Given the description of an element on the screen output the (x, y) to click on. 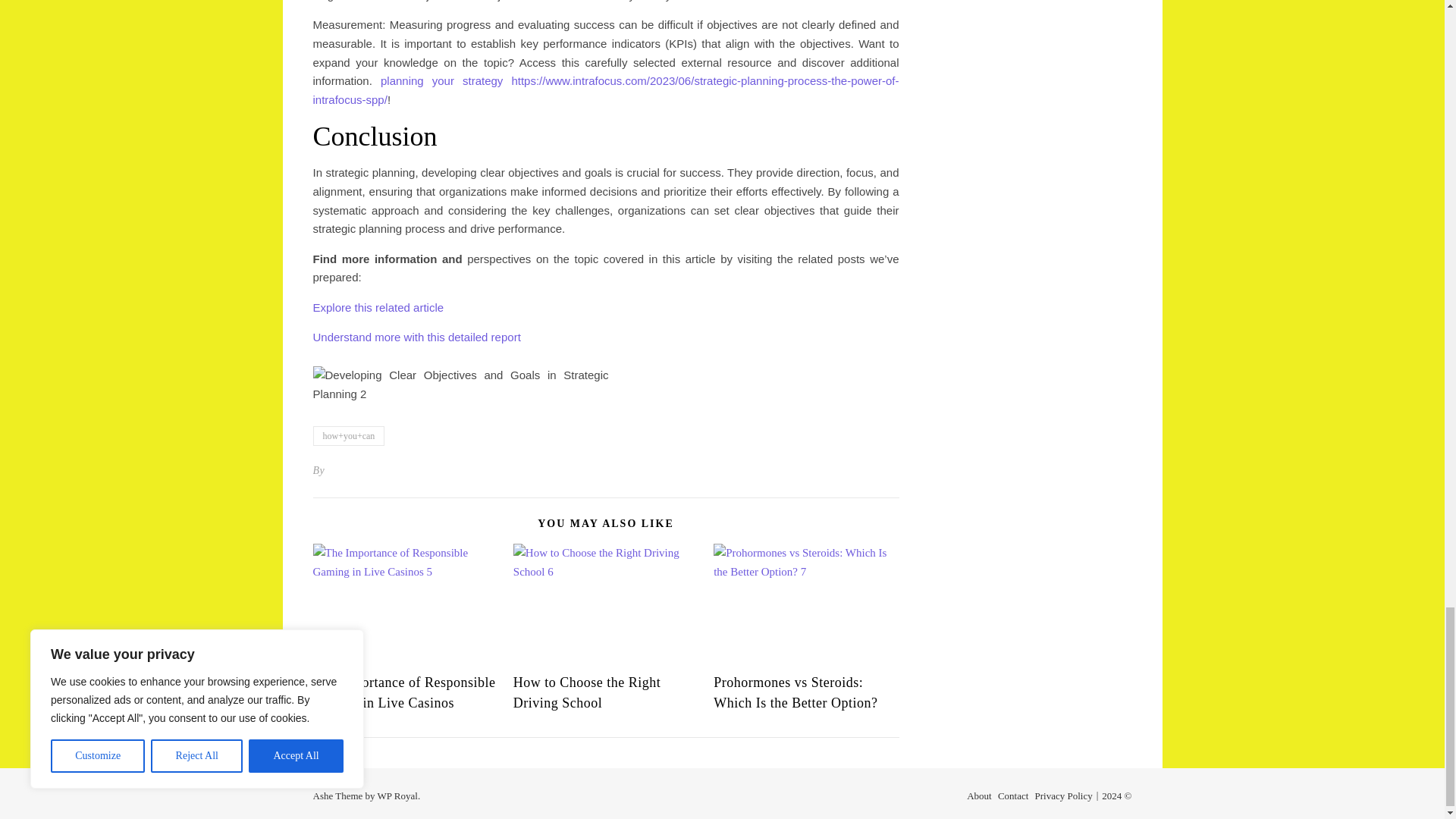
Prohormones vs Steroids: Which Is the Better Option? (795, 692)
The Importance of Responsible Gaming in Live Casinos (404, 692)
How to Choose the Right Driving School (587, 692)
Explore this related article (378, 307)
Understand more with this detailed report (416, 336)
